Given the description of an element on the screen output the (x, y) to click on. 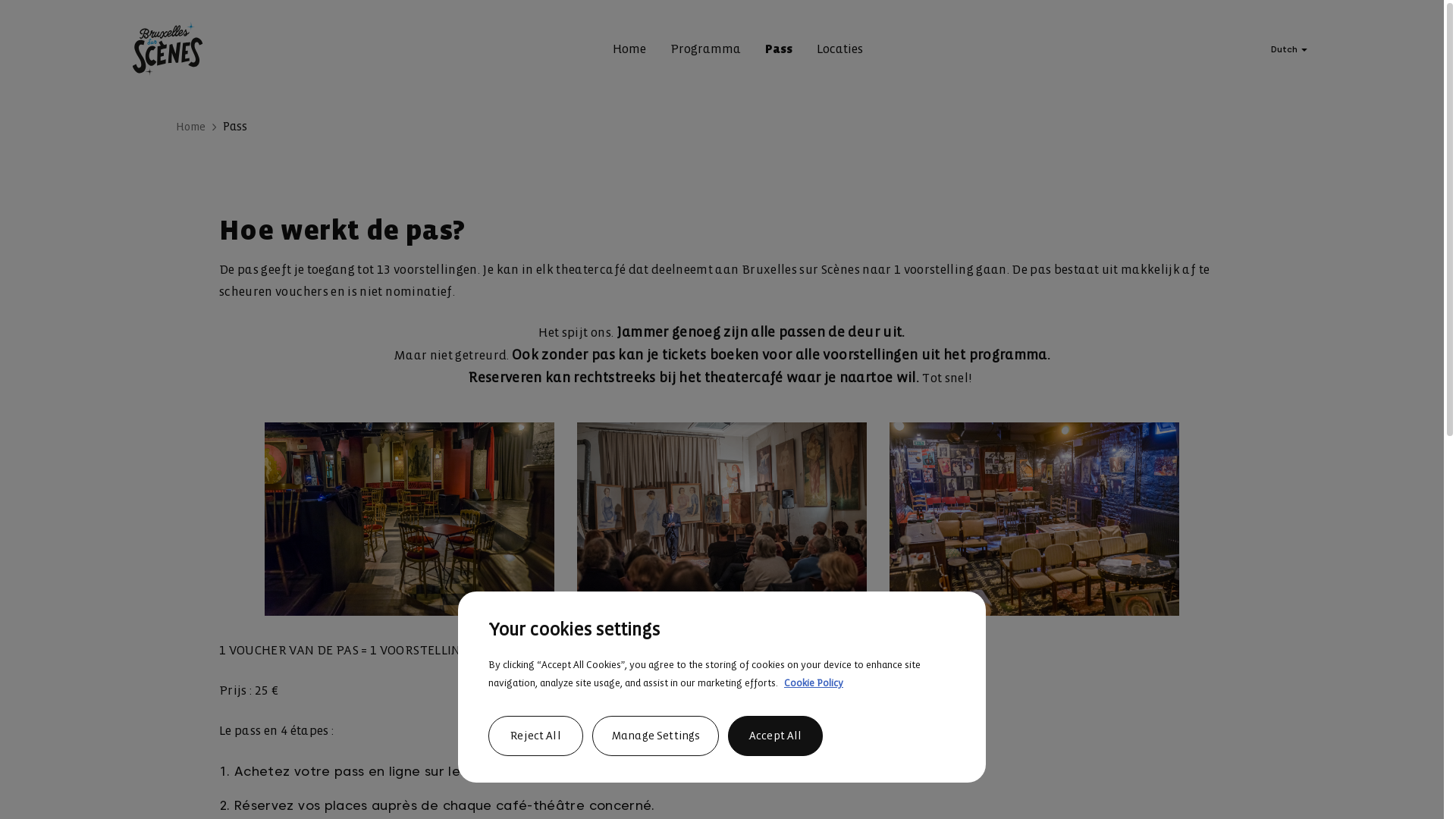
Programma Element type: text (705, 49)
Cookie Policy Element type: text (813, 682)
_JPR9051 Element type: hover (1034, 518)
Home Element type: text (629, 49)
Locaties Element type: text (838, 49)
Accept All Element type: text (775, 735)
Dutch Element type: text (1290, 48)
Manage Settings Element type: text (655, 735)
Reject All Element type: text (535, 735)
Pass Element type: text (777, 49)
_JPR8538 Element type: hover (409, 518)
Home Element type: text (190, 126)
